Given the description of an element on the screen output the (x, y) to click on. 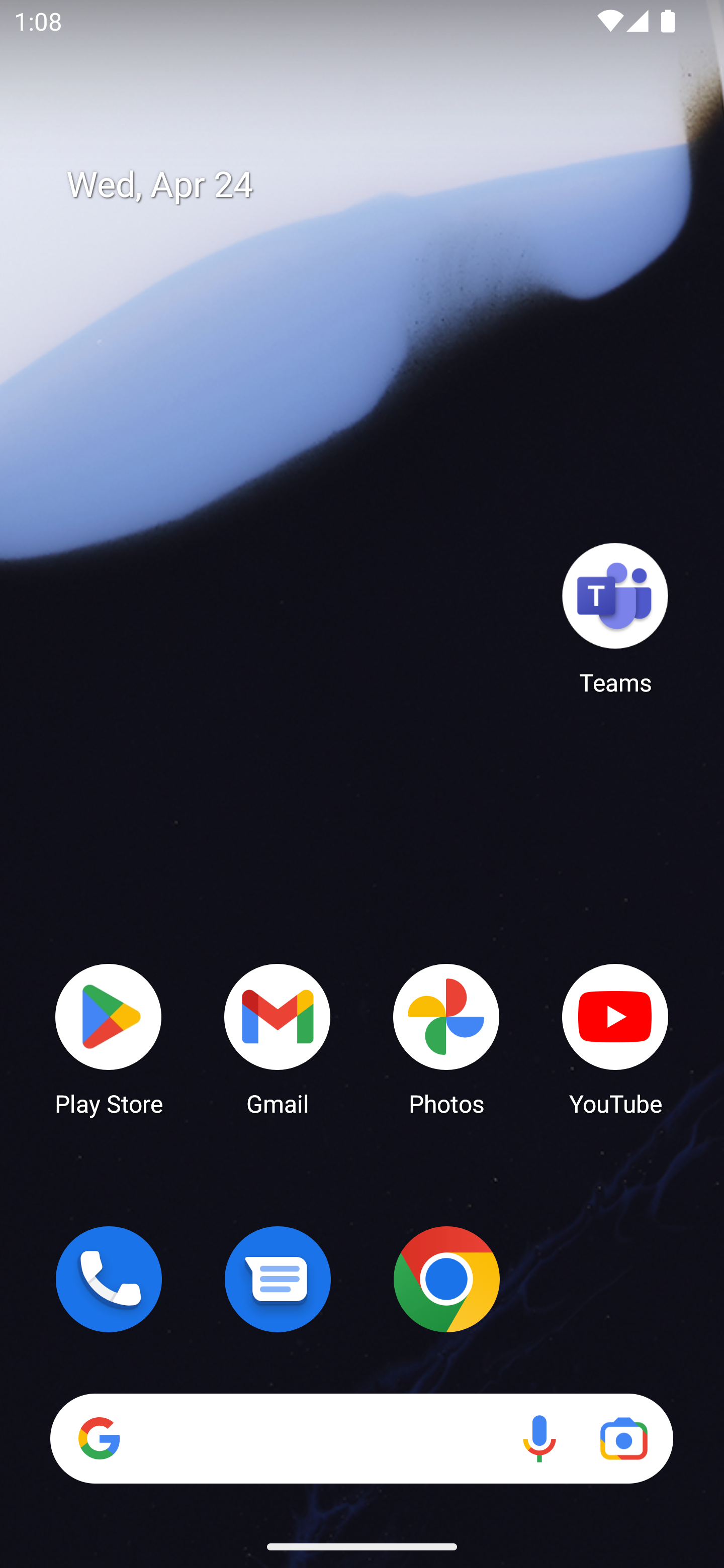
Wed, Apr 24 (375, 184)
Teams (615, 617)
Play Store (108, 1038)
Gmail (277, 1038)
Photos (445, 1038)
YouTube (615, 1038)
Phone (108, 1279)
Messages (277, 1279)
Chrome (446, 1279)
Search Voice search Google Lens (361, 1438)
Voice search (539, 1438)
Google Lens (623, 1438)
